Given the description of an element on the screen output the (x, y) to click on. 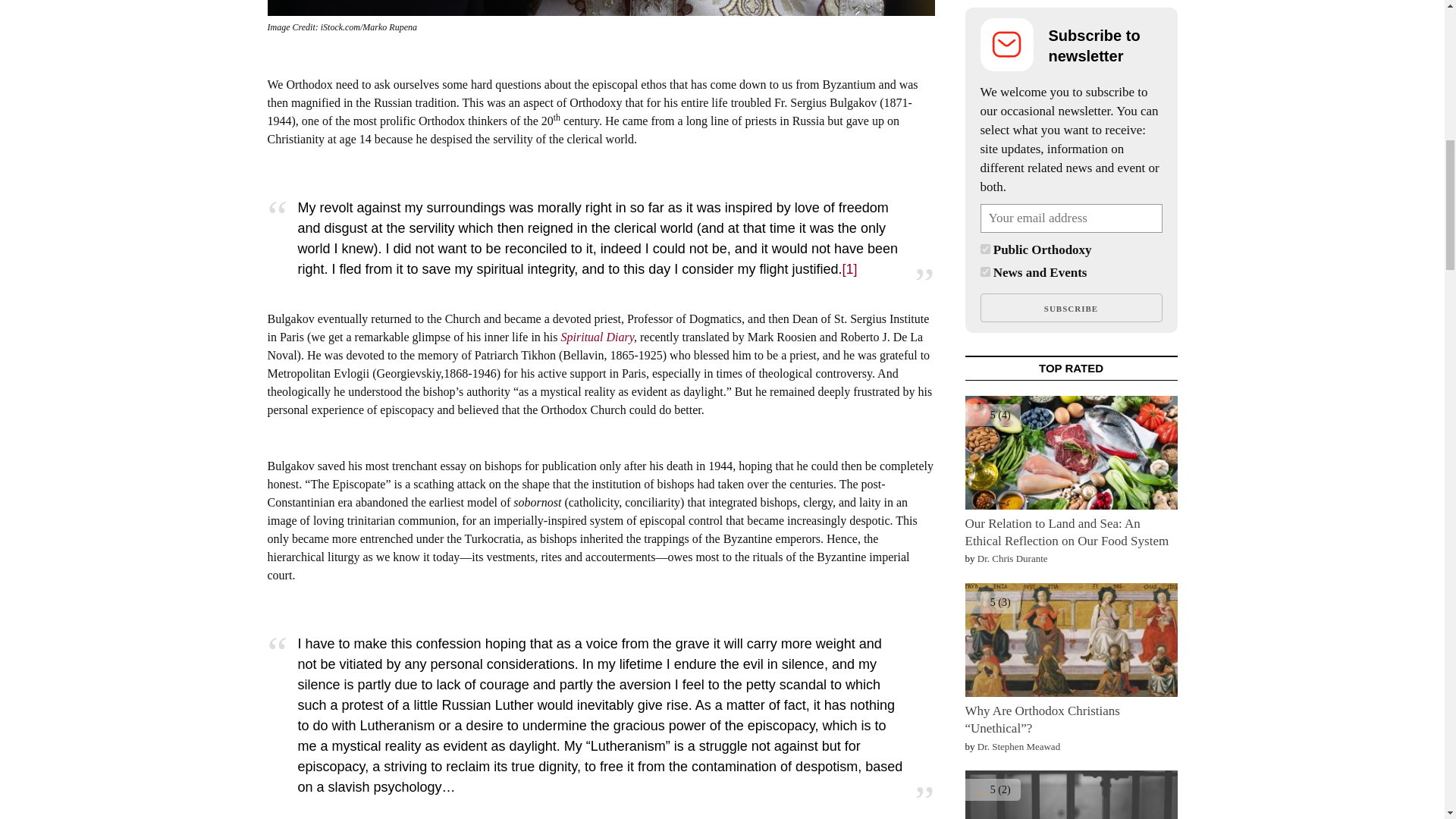
80d59a5725 (984, 248)
e724ddb604 (984, 271)
Subscribe (1070, 307)
